Given the description of an element on the screen output the (x, y) to click on. 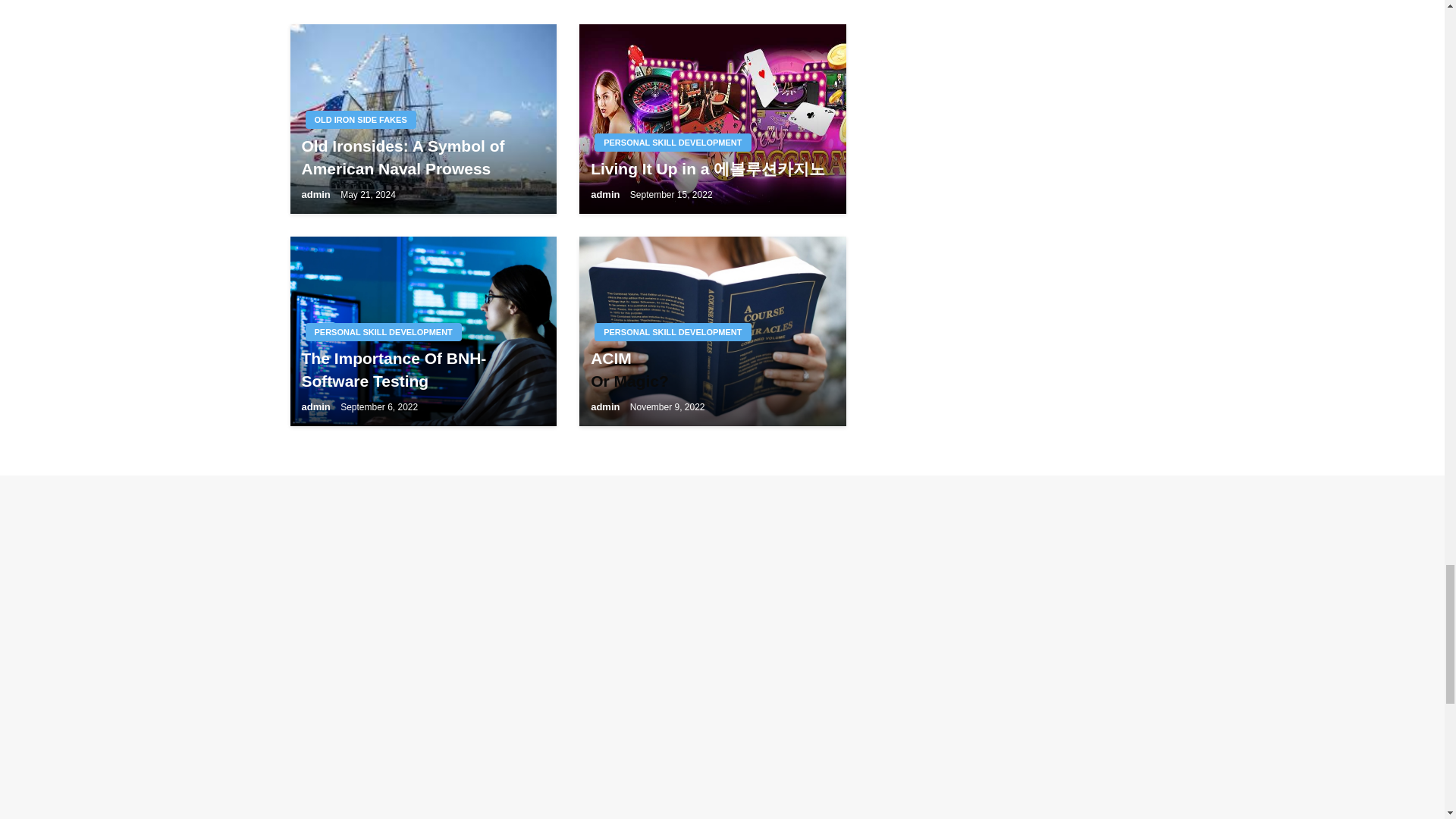
admin (315, 194)
Old Ironsides: A Symbol of American Naval Prowess (422, 118)
OLD IRON SIDE FAKES (359, 119)
Old Ironsides: A Symbol of American Naval Prowess (423, 157)
